Given the description of an element on the screen output the (x, y) to click on. 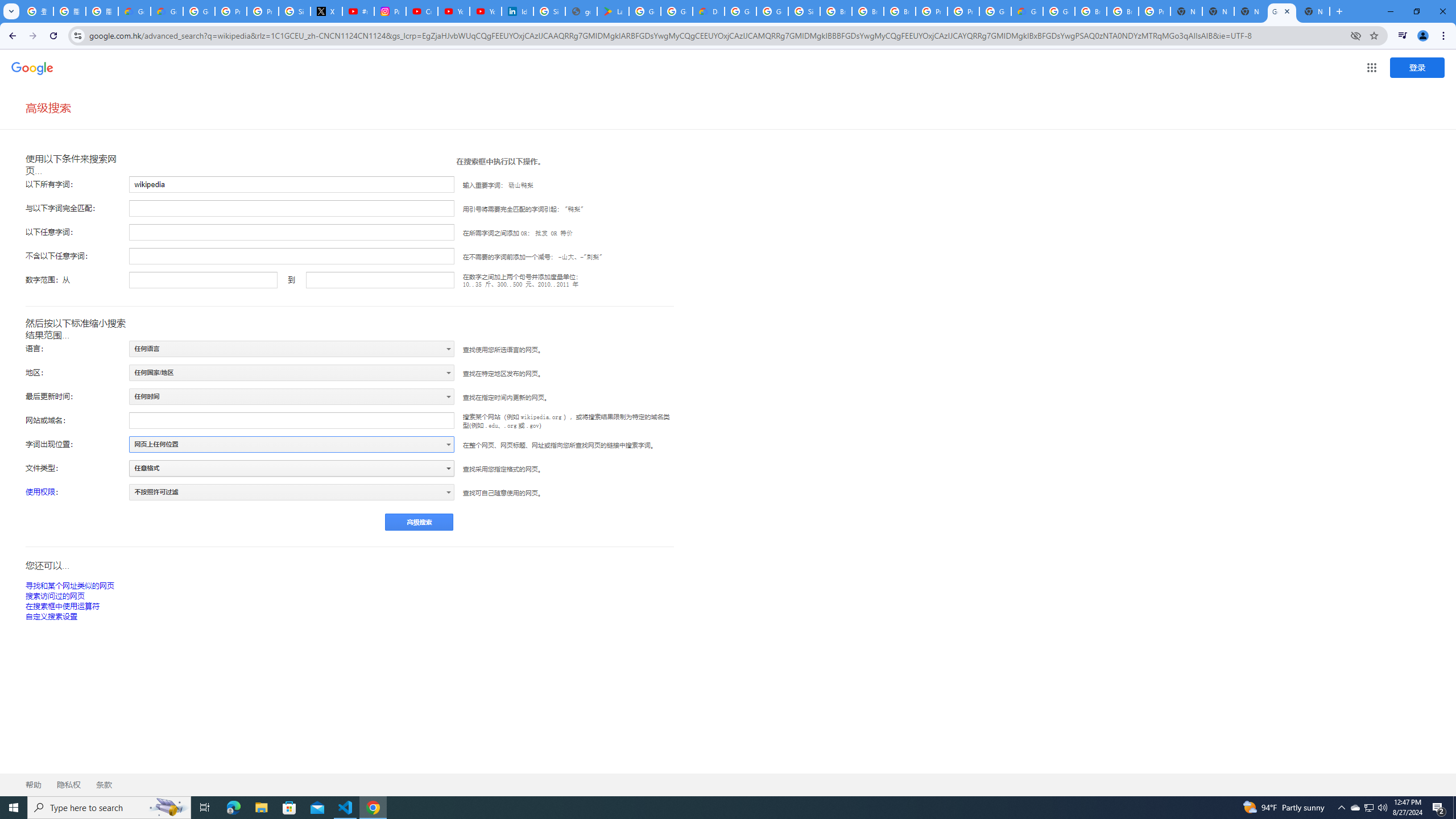
Browse Chrome as a guest - Computer - Google Chrome Help (836, 11)
Privacy Help Center - Policies Help (262, 11)
Sign in - Google Accounts (804, 11)
